Given the description of an element on the screen output the (x, y) to click on. 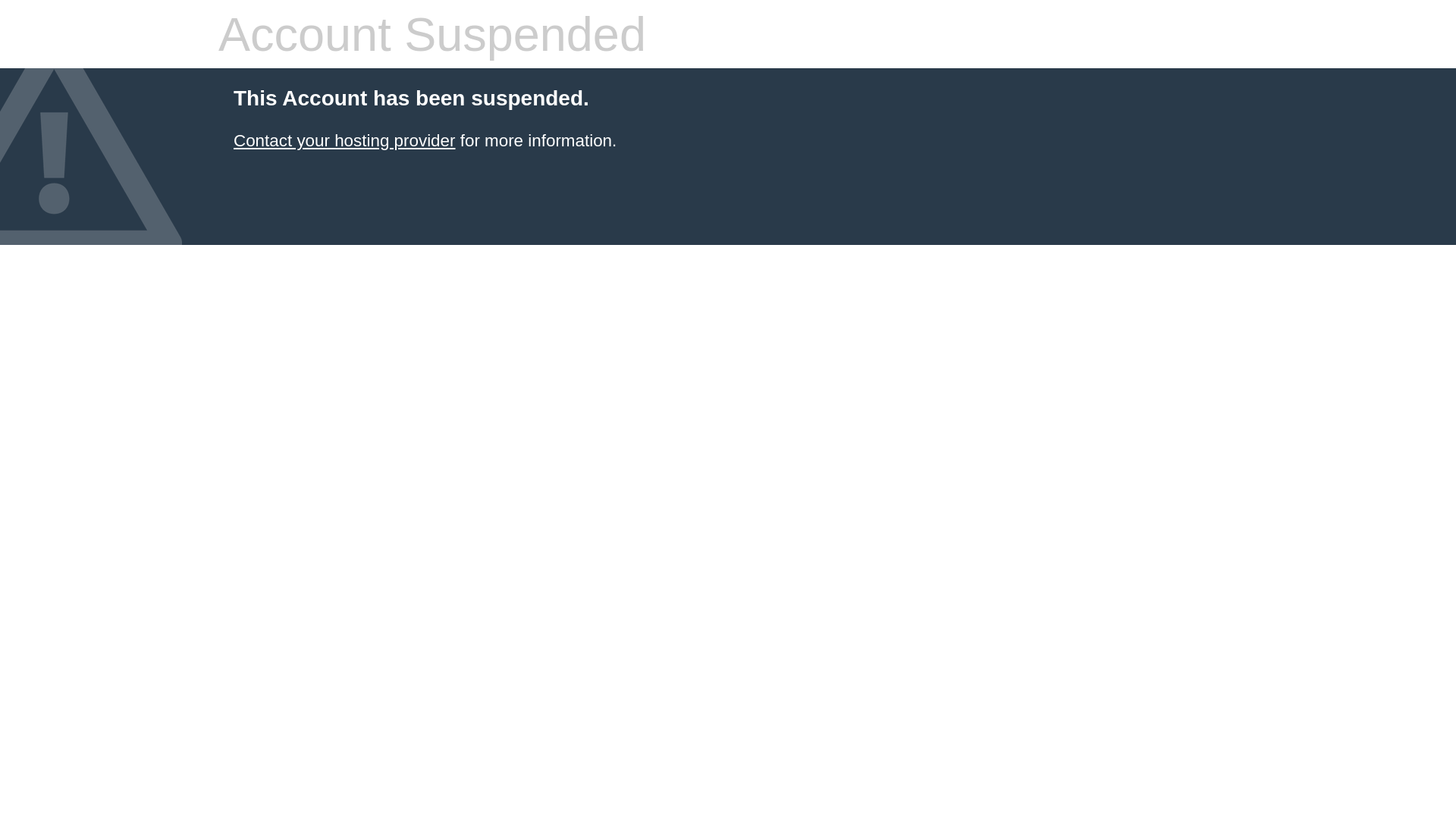
Contact your hosting provider Element type: text (344, 140)
